Given the description of an element on the screen output the (x, y) to click on. 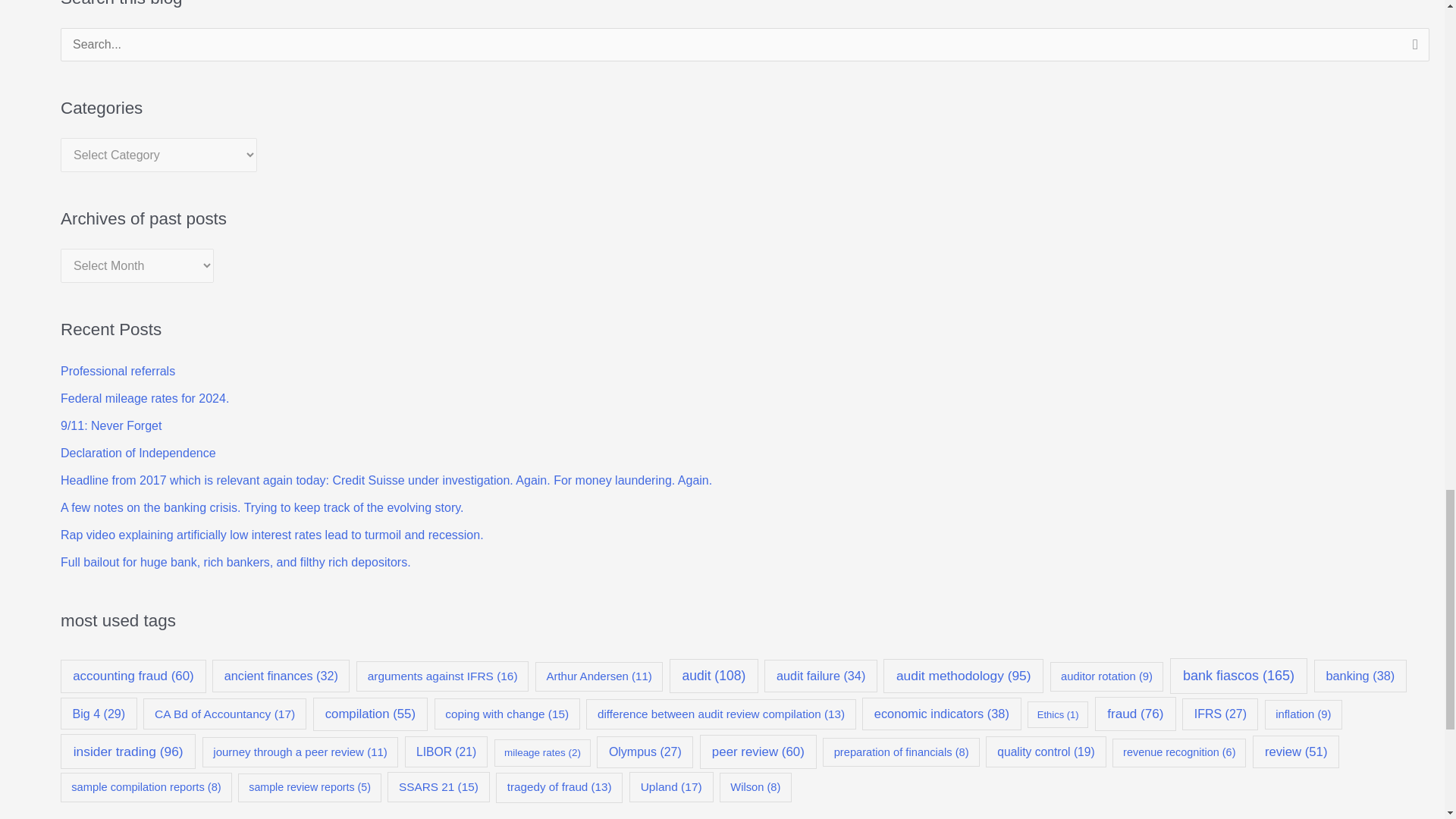
Declaration of Independence (138, 452)
Federal mileage rates for 2024. (144, 398)
Professional referrals (117, 370)
